Given the description of an element on the screen output the (x, y) to click on. 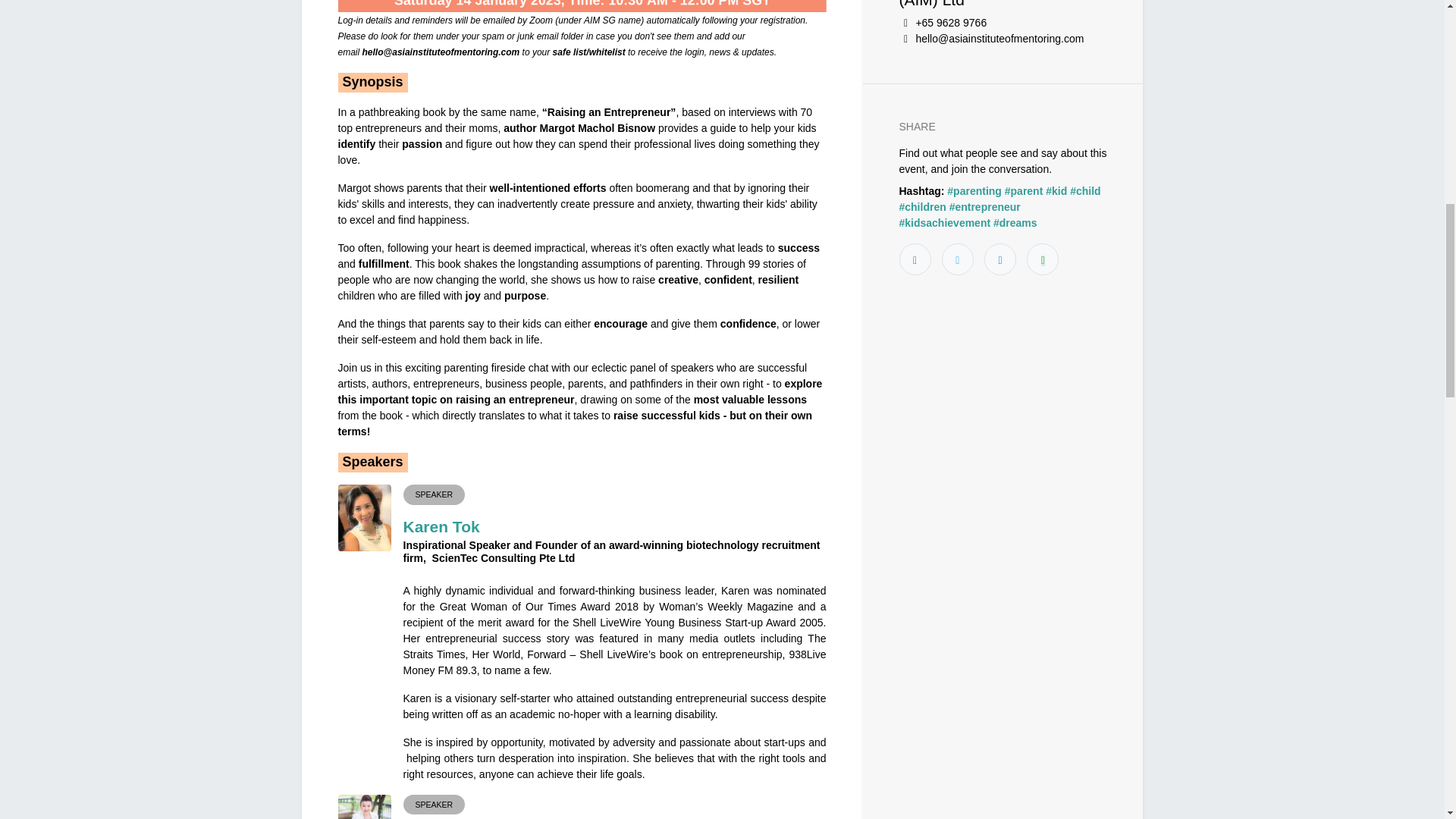
Karen Tok (441, 526)
Email (905, 39)
Phone (905, 23)
